Given the description of an element on the screen output the (x, y) to click on. 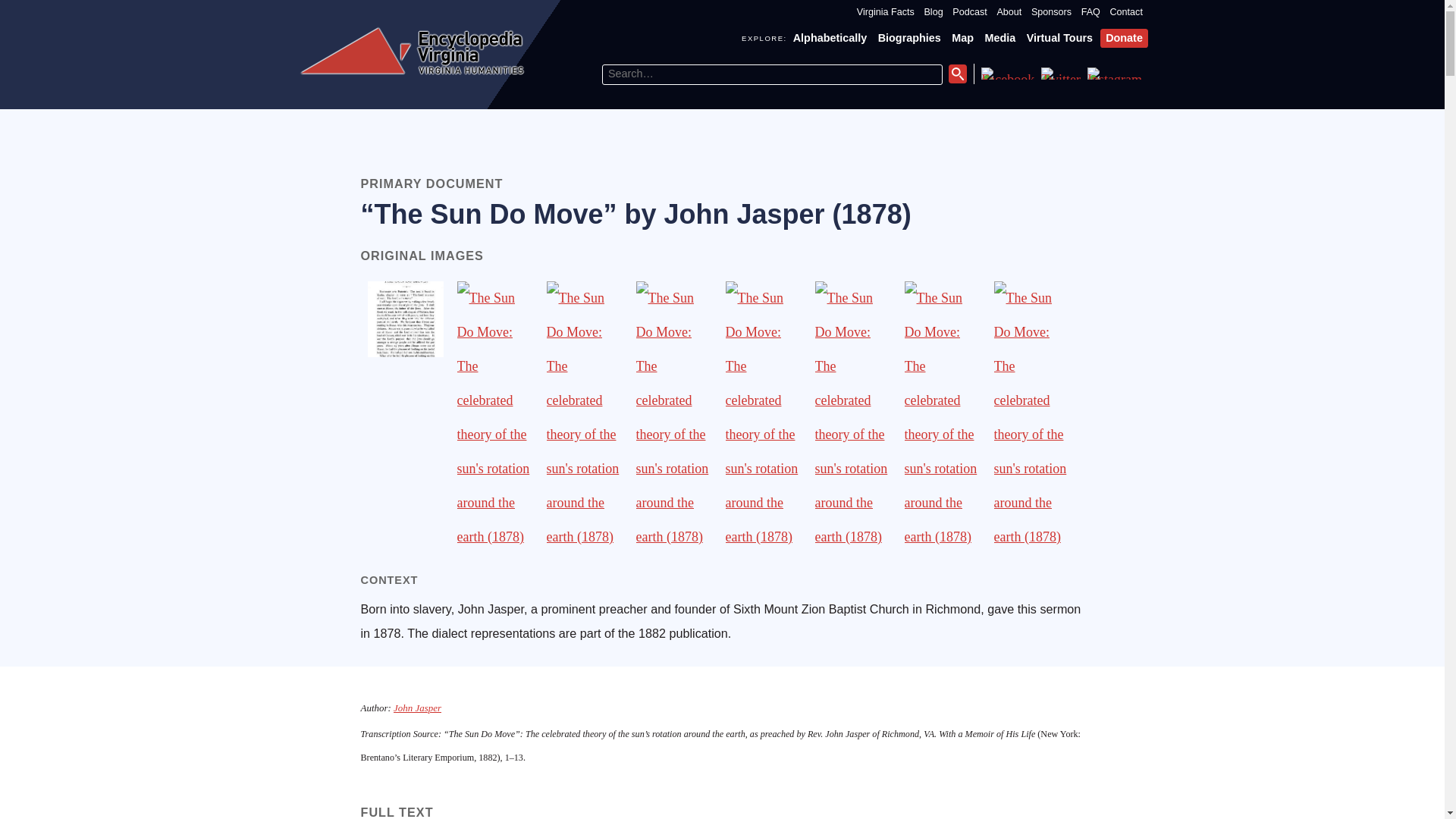
Podcast (969, 11)
Encyclopedia Virginia, Virginia Humanities (411, 51)
Virtual Tours (1059, 38)
Blog (932, 11)
Biographies (908, 38)
Media (999, 38)
FAQ (1090, 11)
Virginia Facts (885, 11)
Contact (1125, 11)
About (1008, 11)
